Given the description of an element on the screen output the (x, y) to click on. 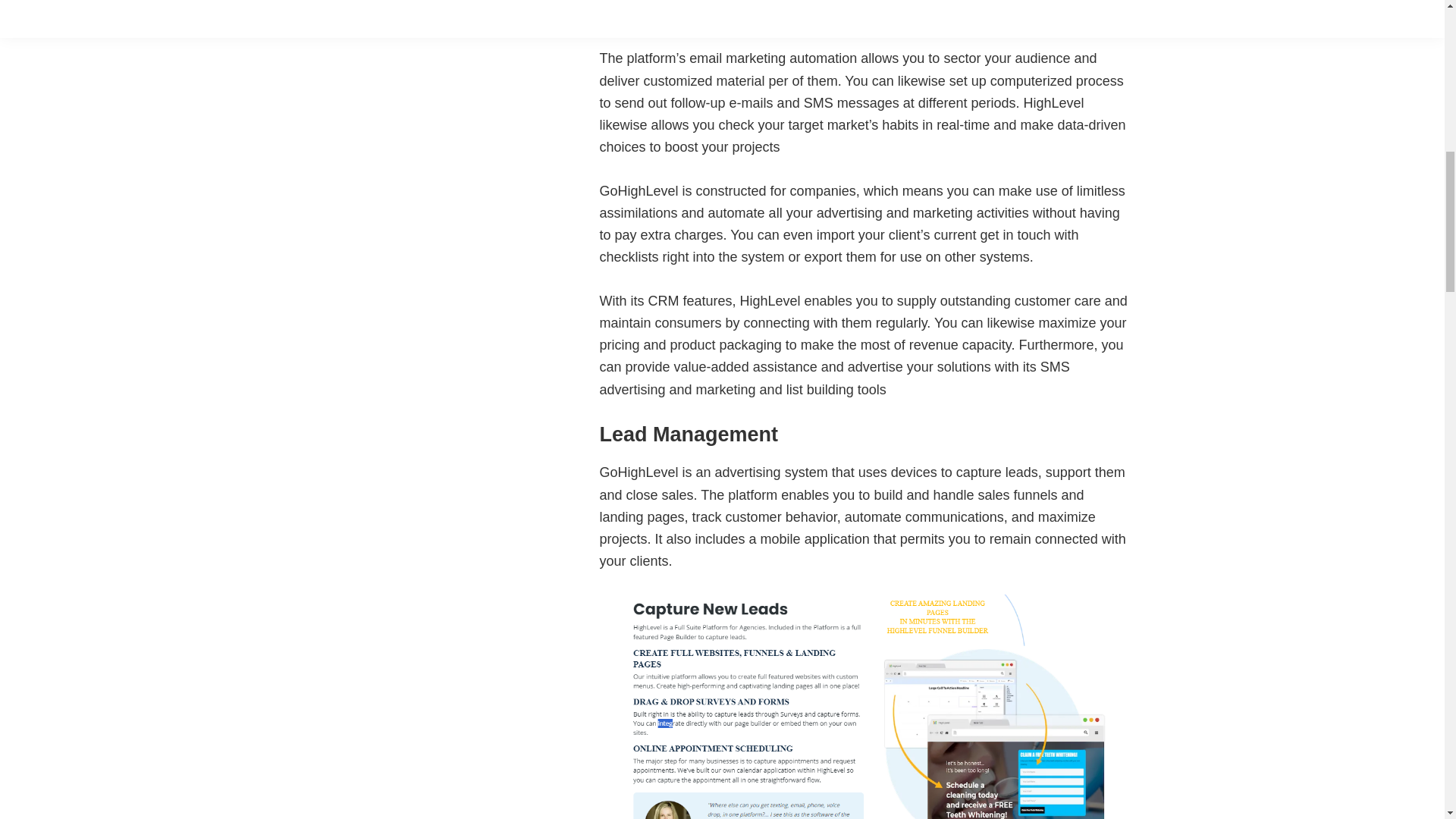
Welcome To HighLevel (788, 9)
